Given the description of an element on the screen output the (x, y) to click on. 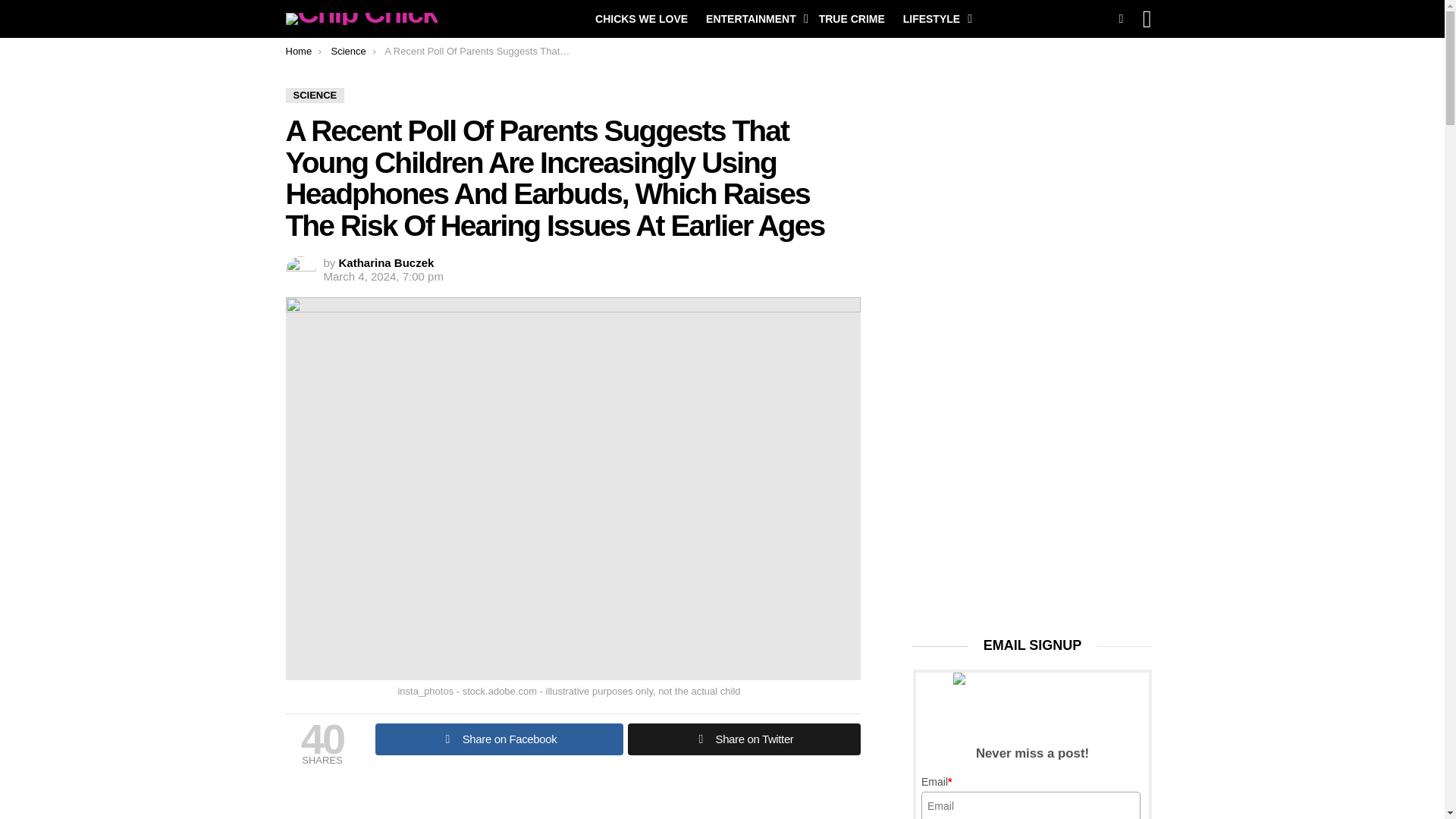
Email (1030, 805)
Home (298, 50)
Share on Facebook (498, 739)
Posts by Katharina Buczek (386, 262)
LIFESTYLE (933, 18)
Katharina Buczek (386, 262)
CHICKS WE LOVE (641, 18)
ENTERTAINMENT (753, 18)
TRUE CRIME (851, 18)
SCIENCE (314, 95)
Share on Twitter (743, 739)
Science (347, 50)
